Given the description of an element on the screen output the (x, y) to click on. 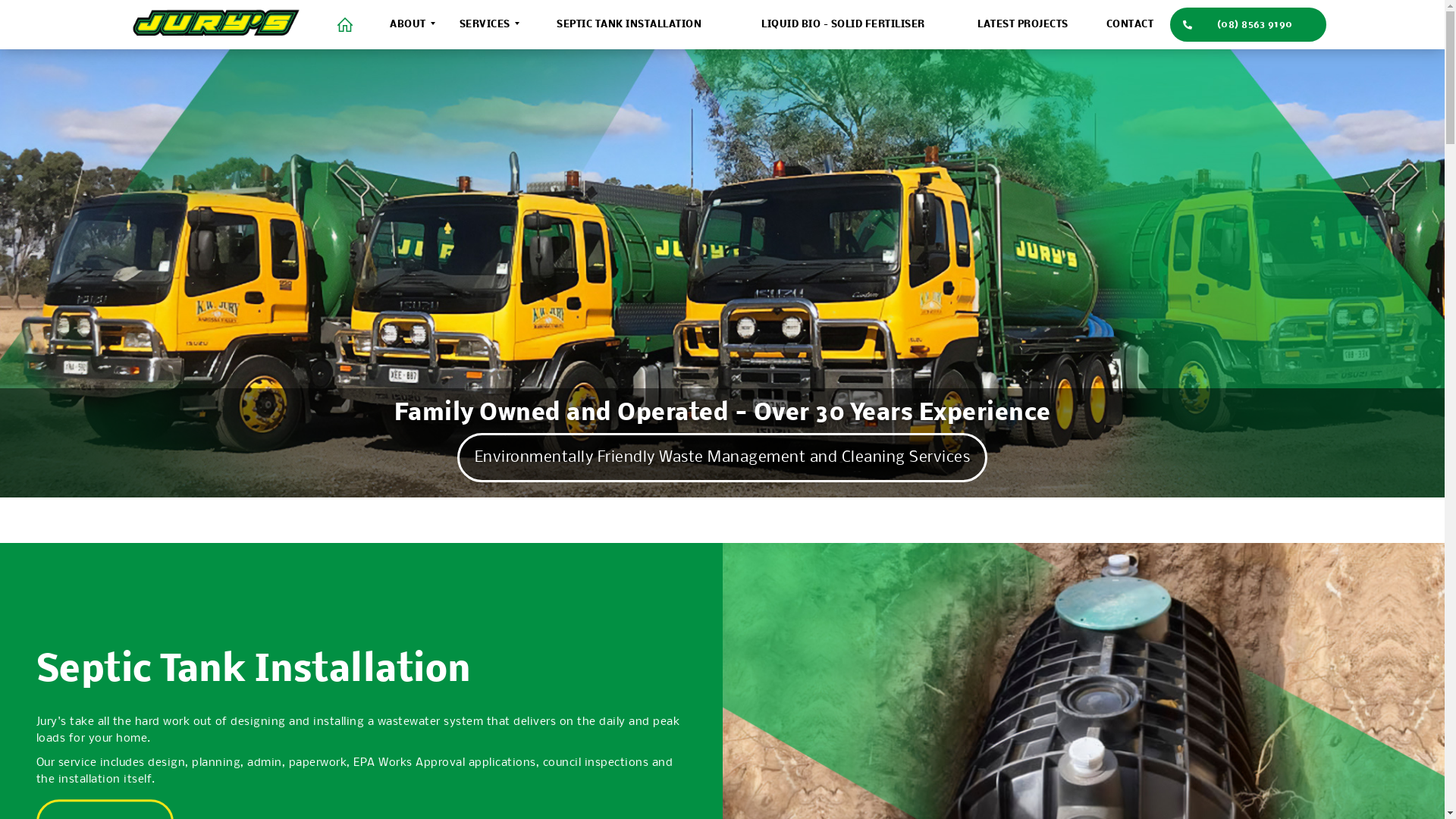
LATEST PROJECTS Element type: text (1022, 23)
CONTACT Element type: text (1129, 23)
SERVICES Element type: text (484, 23)
(08) 8563 9190 Element type: text (1248, 24)
SEPTIC TANK INSTALLATION Element type: text (629, 23)
ABOUT Element type: text (408, 23)
